Given the description of an element on the screen output the (x, y) to click on. 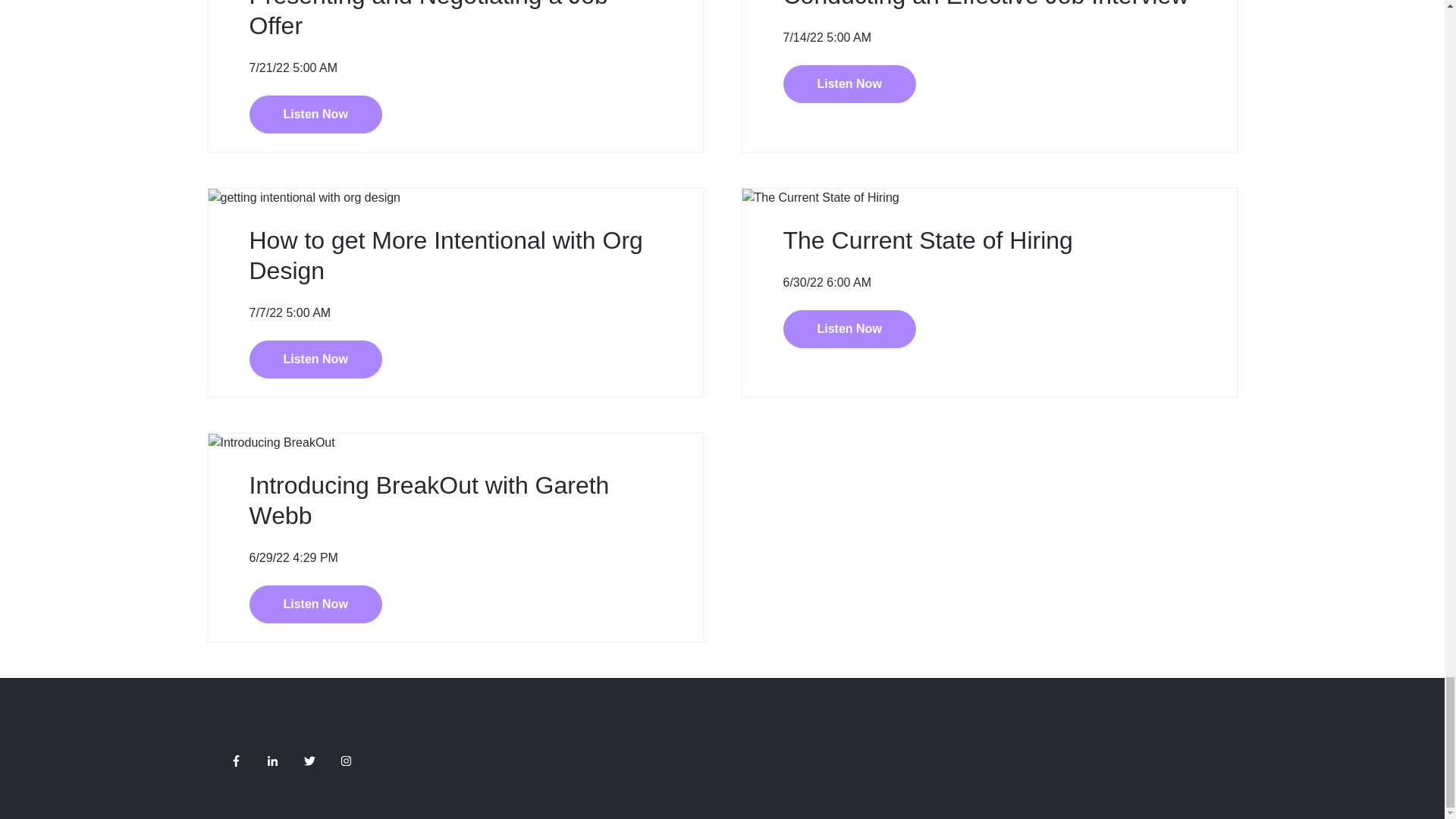
Follow us on Instagram (346, 760)
Follow us on LinkedIn (272, 760)
Follow us on Facebook (235, 760)
Follow us on Twitter (309, 760)
